Given the description of an element on the screen output the (x, y) to click on. 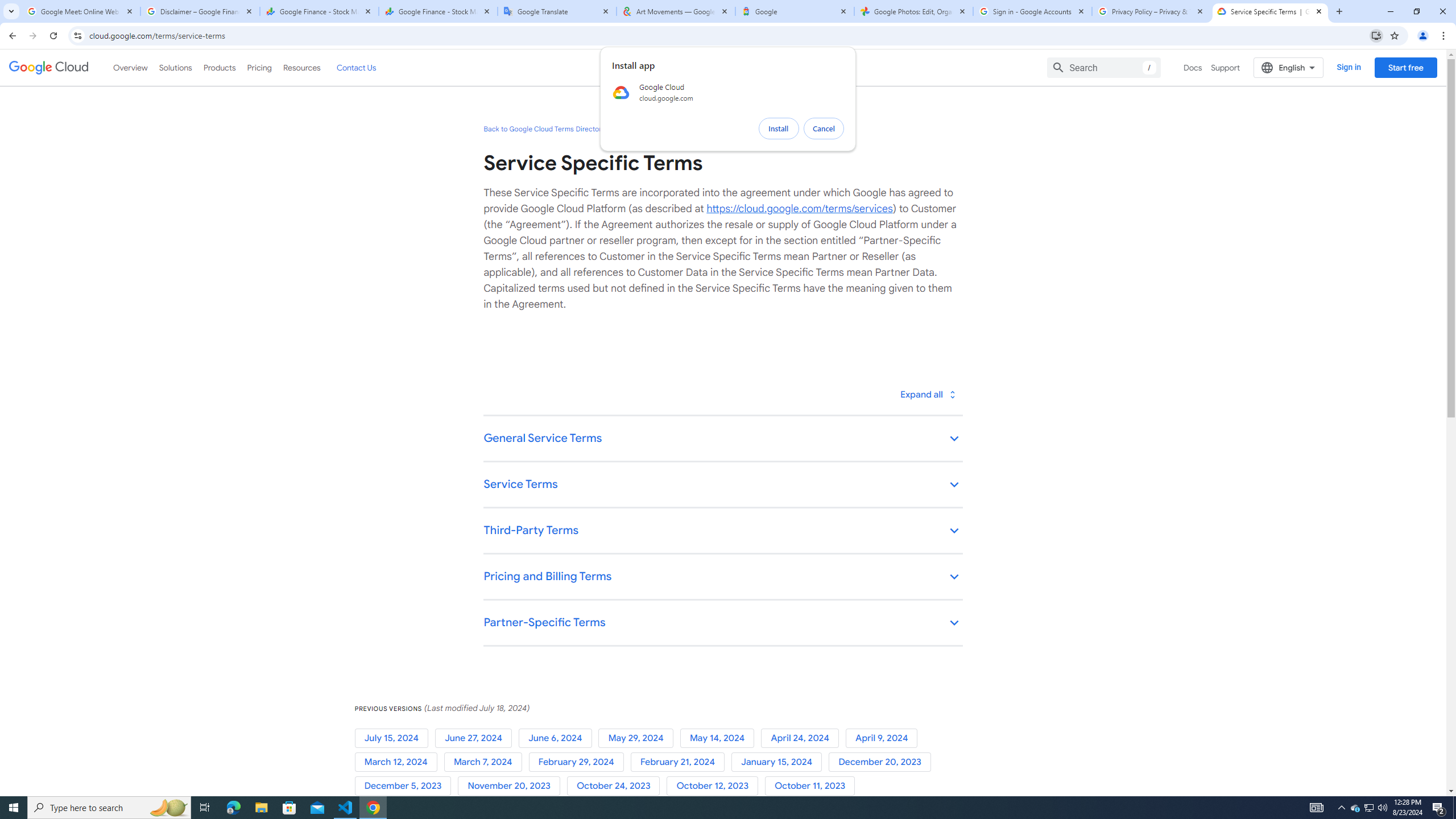
Support (1225, 67)
Google Translate (556, 11)
Install (778, 128)
Products (218, 67)
November 20, 2023 (511, 786)
Cancel (823, 128)
Service Terms keyboard_arrow_down (722, 485)
Pricing (259, 67)
General Service Terms keyboard_arrow_down (722, 439)
October 11, 2023 (812, 786)
Sign in - Google Accounts (1032, 11)
